Given the description of an element on the screen output the (x, y) to click on. 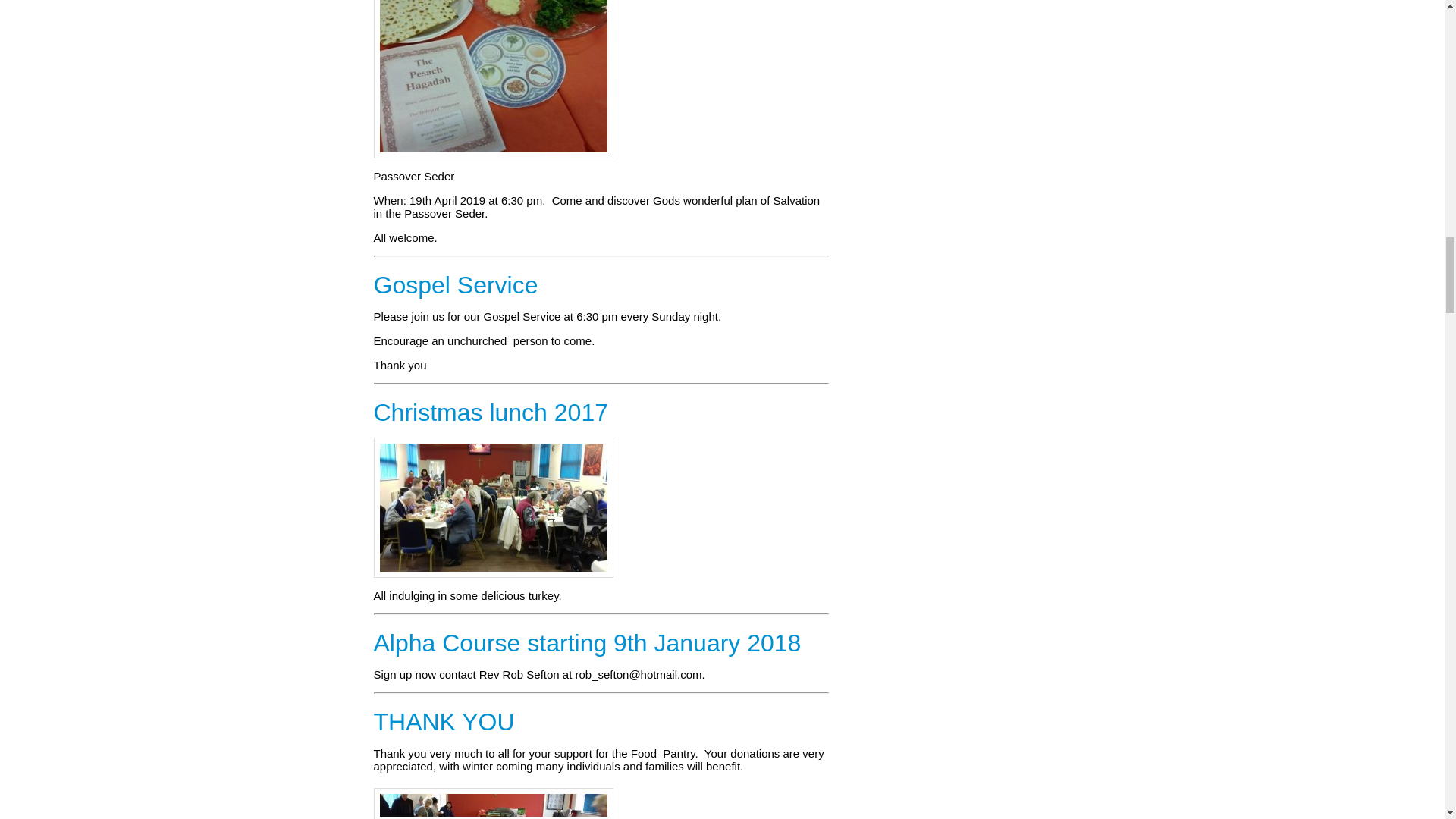
Gospel Service (454, 285)
THANK YOU (442, 722)
Christmas lunch 2017 (489, 412)
Alpha Course starting 9th January 2018 (586, 643)
